Given the description of an element on the screen output the (x, y) to click on. 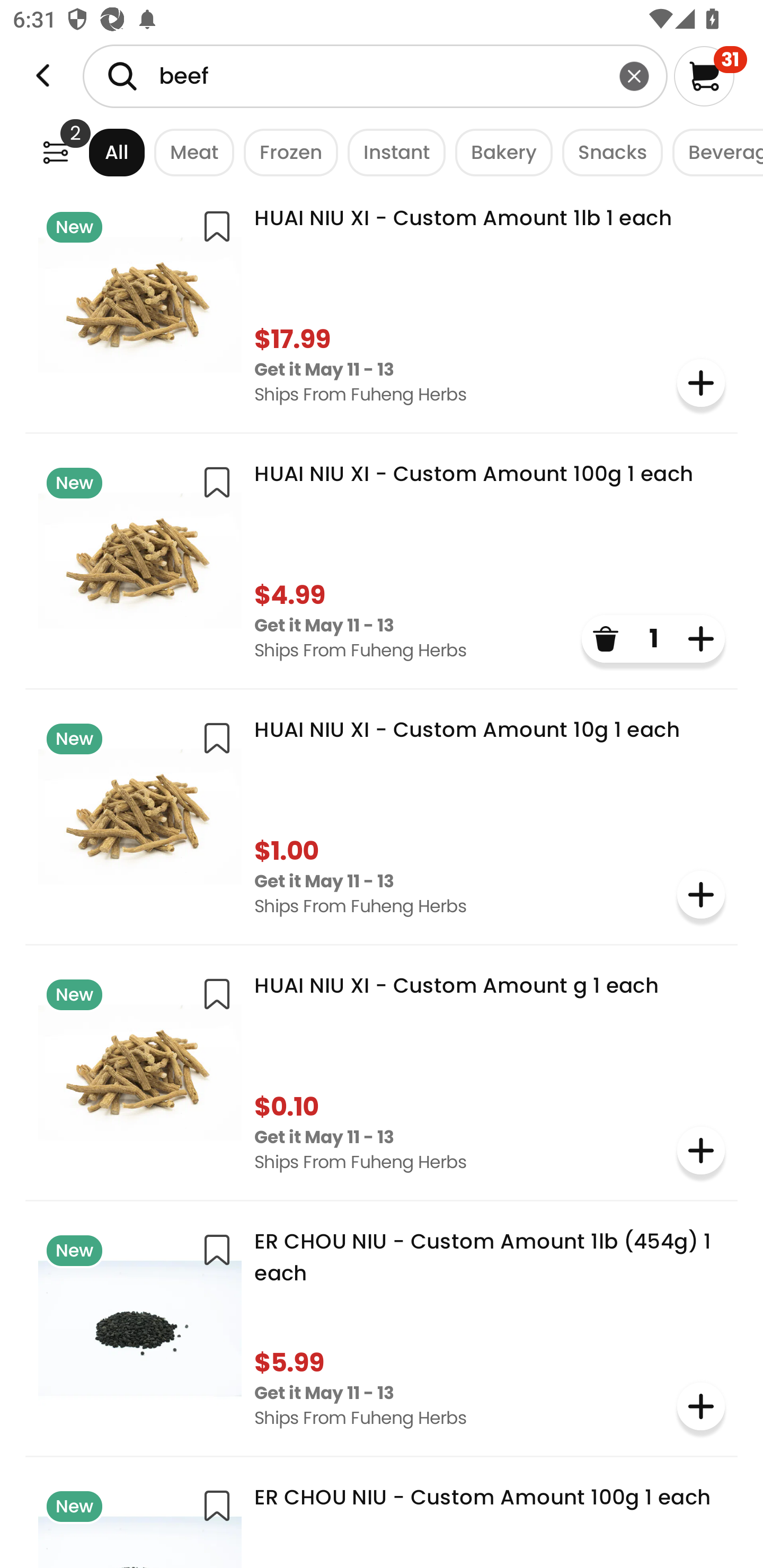
beef (374, 75)
31 (709, 75)
Weee! (42, 76)
Weee! (55, 151)
All (99, 151)
Meat (189, 151)
Frozen (286, 151)
Instant (391, 151)
Bakery (498, 151)
Snacks (607, 151)
Beverages (713, 151)
New ER CHOU NIU - Custom Amount 100g 1 each (381, 1519)
